Given the description of an element on the screen output the (x, y) to click on. 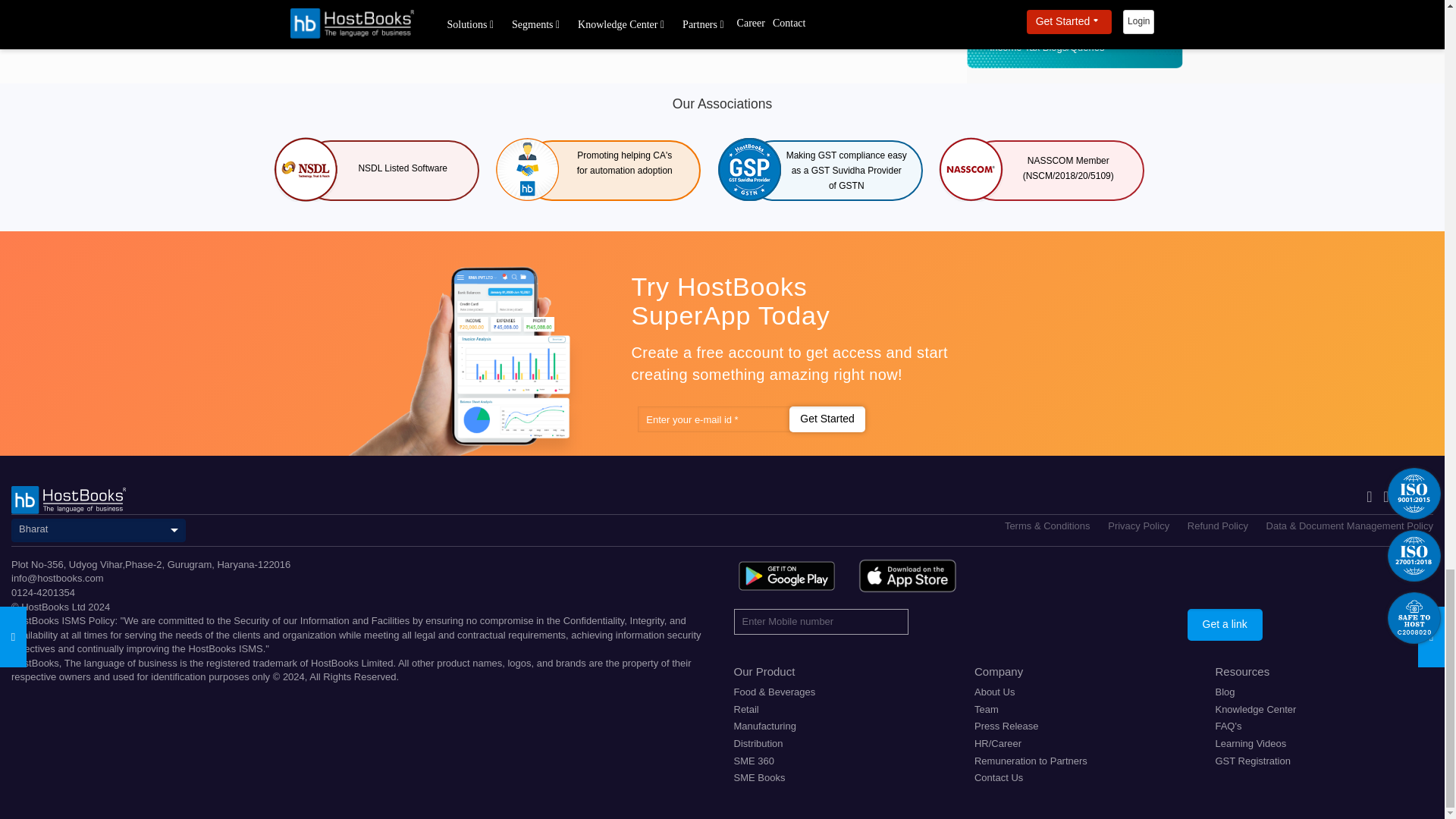
Get a link (1225, 624)
Get Started (826, 419)
Refund Policy (1217, 525)
Privacy Policy (1138, 525)
Document Management Policy (1349, 525)
Download HostBooks Mobile App! (907, 575)
Download HostBooks Mobile App! (786, 575)
